Given the description of an element on the screen output the (x, y) to click on. 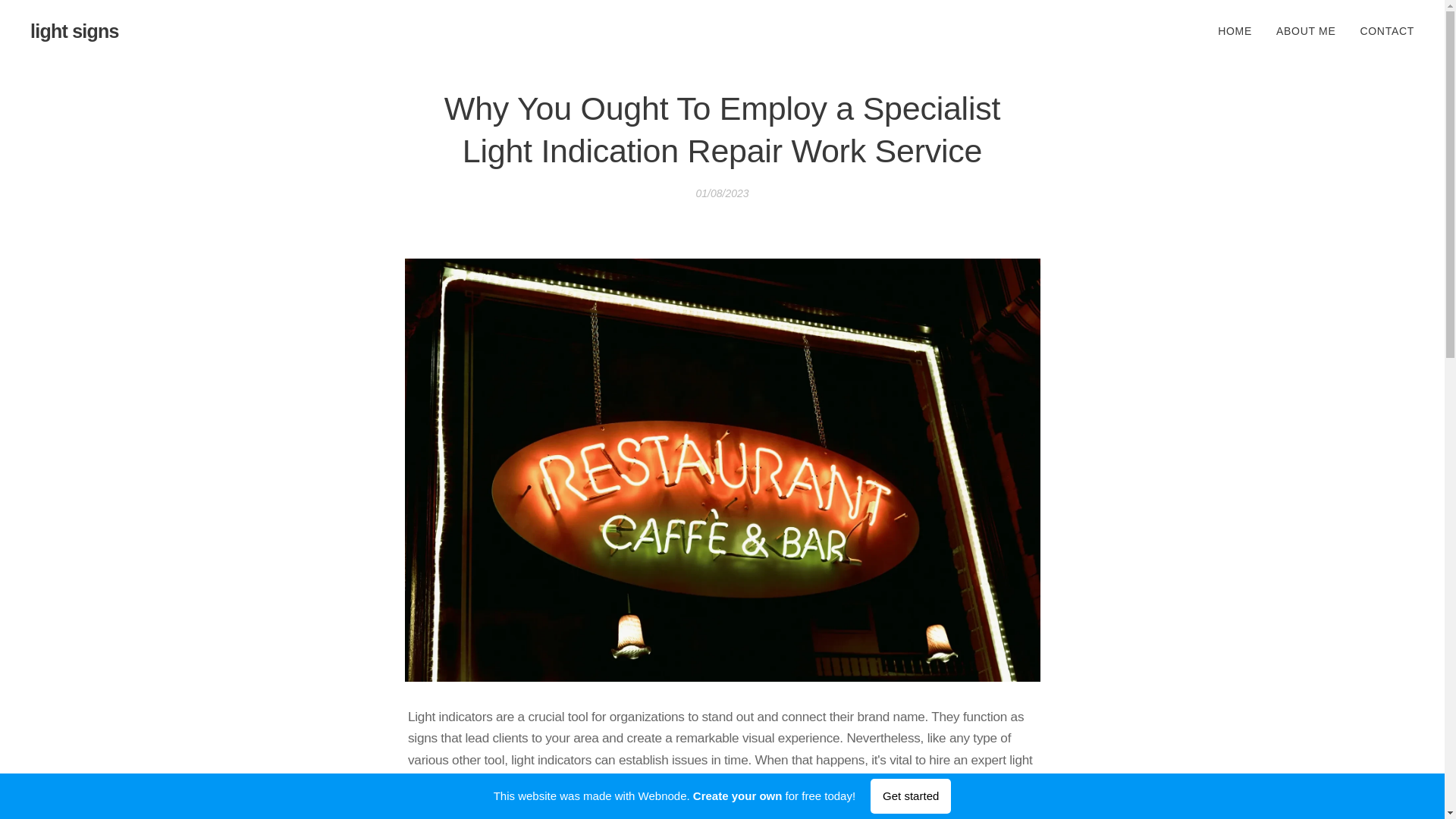
HOME (1238, 30)
light signs (74, 31)
CONTACT (1380, 30)
ABOUT ME (1305, 30)
